Given the description of an element on the screen output the (x, y) to click on. 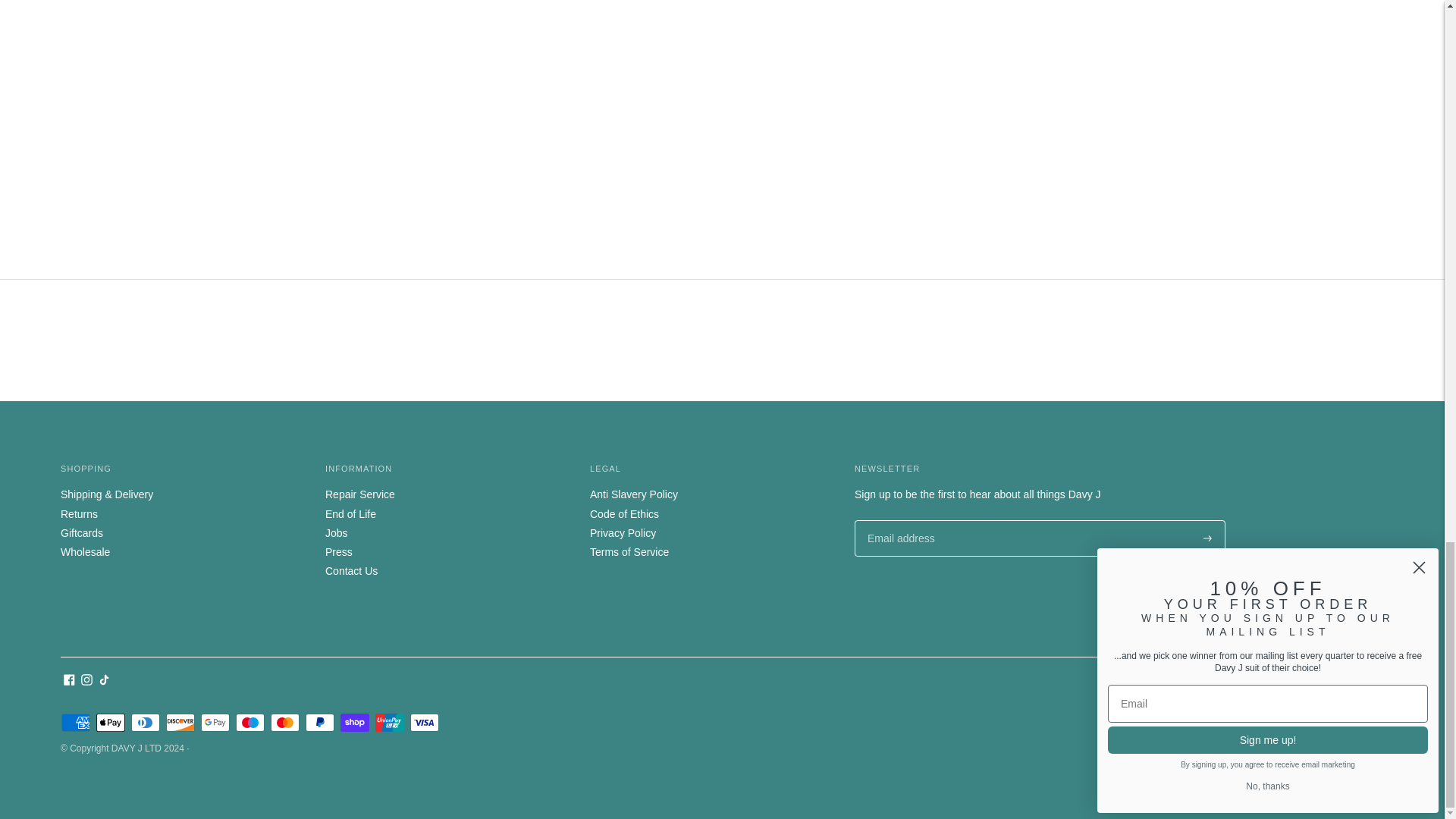
Davy J on Instagram (87, 681)
Davy J on TikTok (104, 681)
Davy J on Facebook (69, 681)
